Given the description of an element on the screen output the (x, y) to click on. 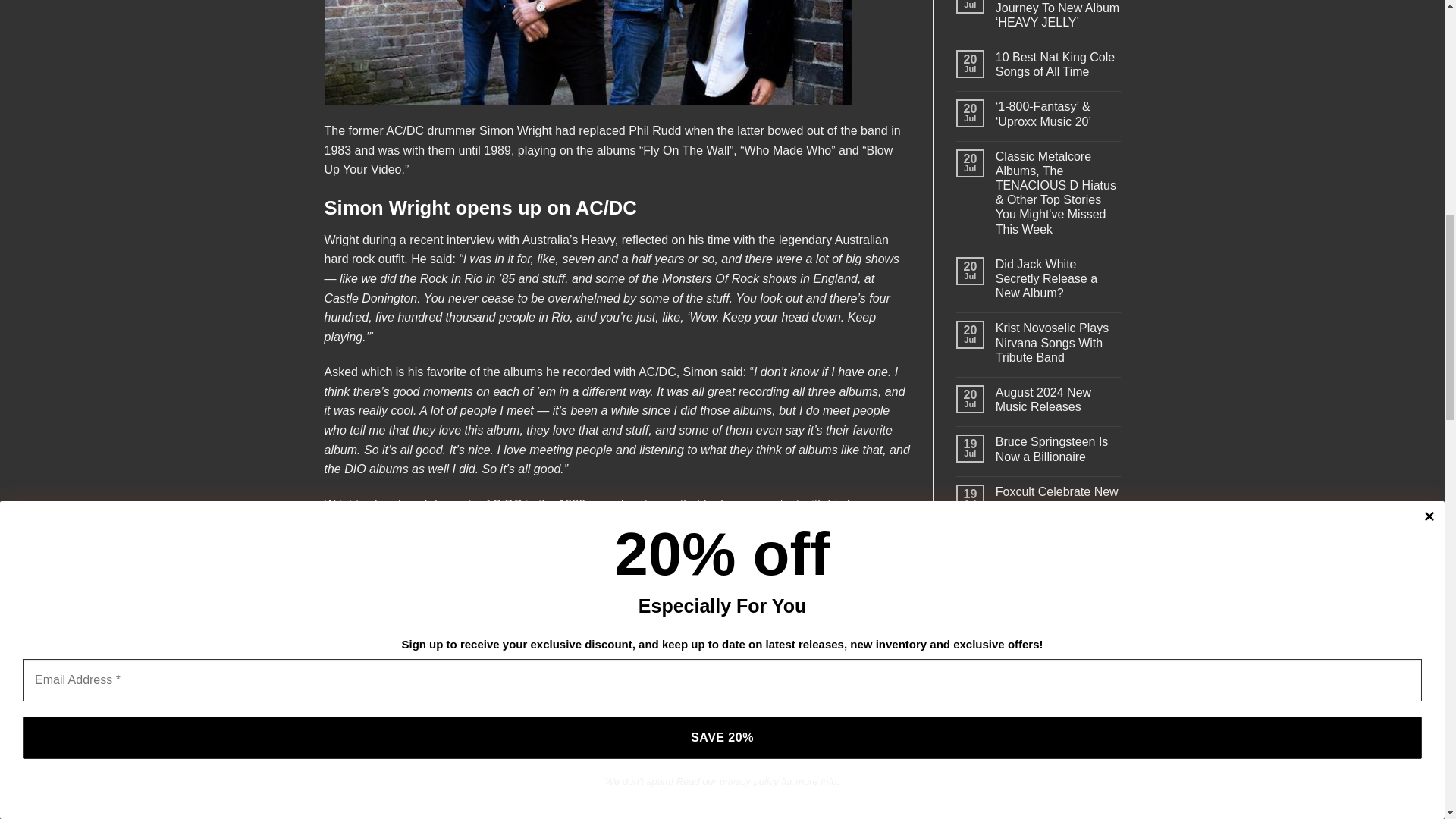
acdcoutside2014 (587, 52)
Heavy (597, 239)
Share on Facebook (562, 704)
Email to a Friend (617, 704)
Alternative Rock (613, 758)
Source link (354, 655)
Share on LinkedIn (671, 704)
Pin on Pinterest (644, 704)
Share on Twitter (590, 704)
